Given the description of an element on the screen output the (x, y) to click on. 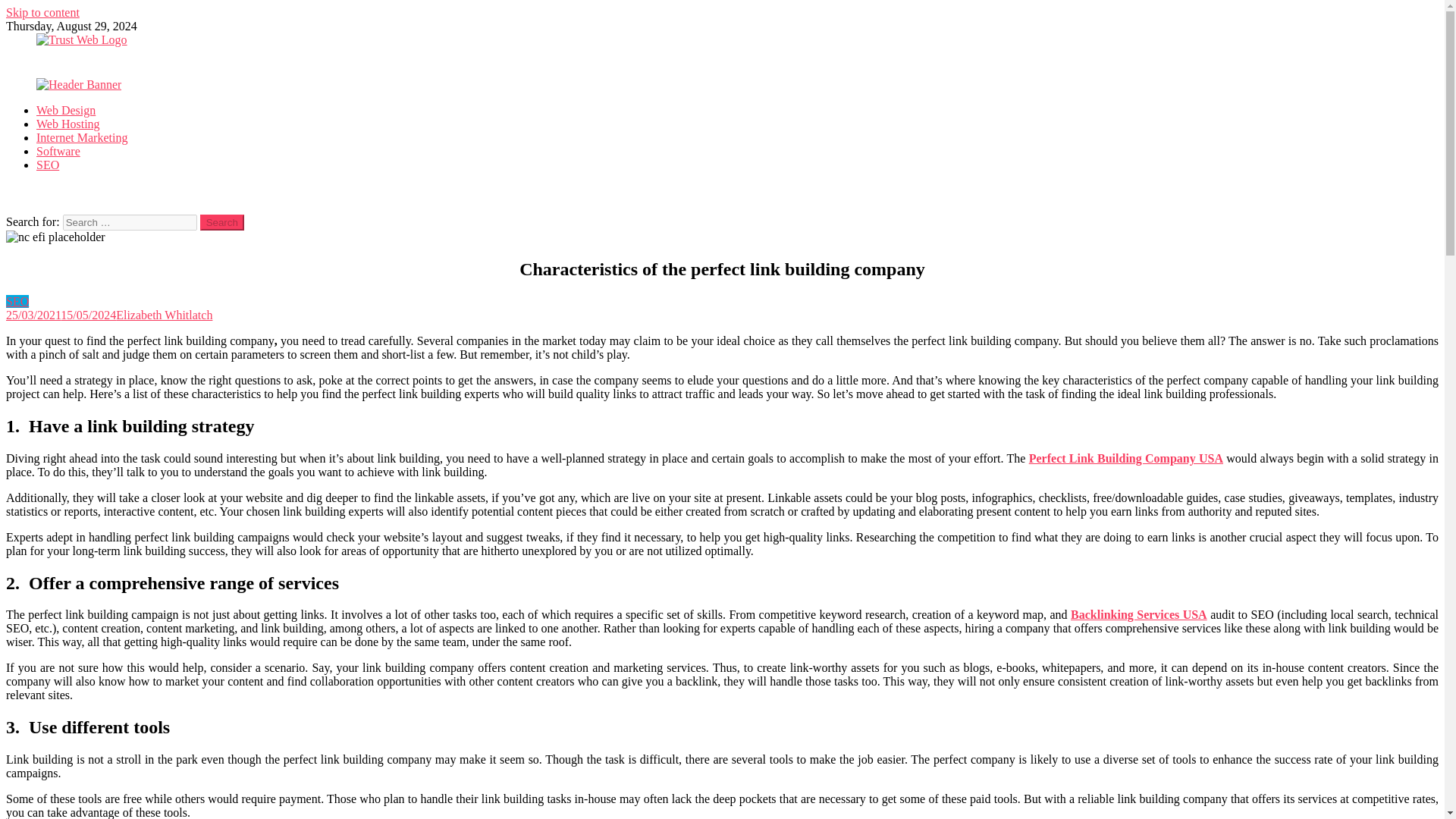
Search (222, 222)
Software (58, 151)
Internet Marketing (82, 137)
SEO (17, 300)
Search (222, 222)
Skip to content (42, 11)
Web Hosting (68, 123)
Search (222, 222)
SEO (47, 164)
Elizabeth Whitlatch (164, 314)
